Given the description of an element on the screen output the (x, y) to click on. 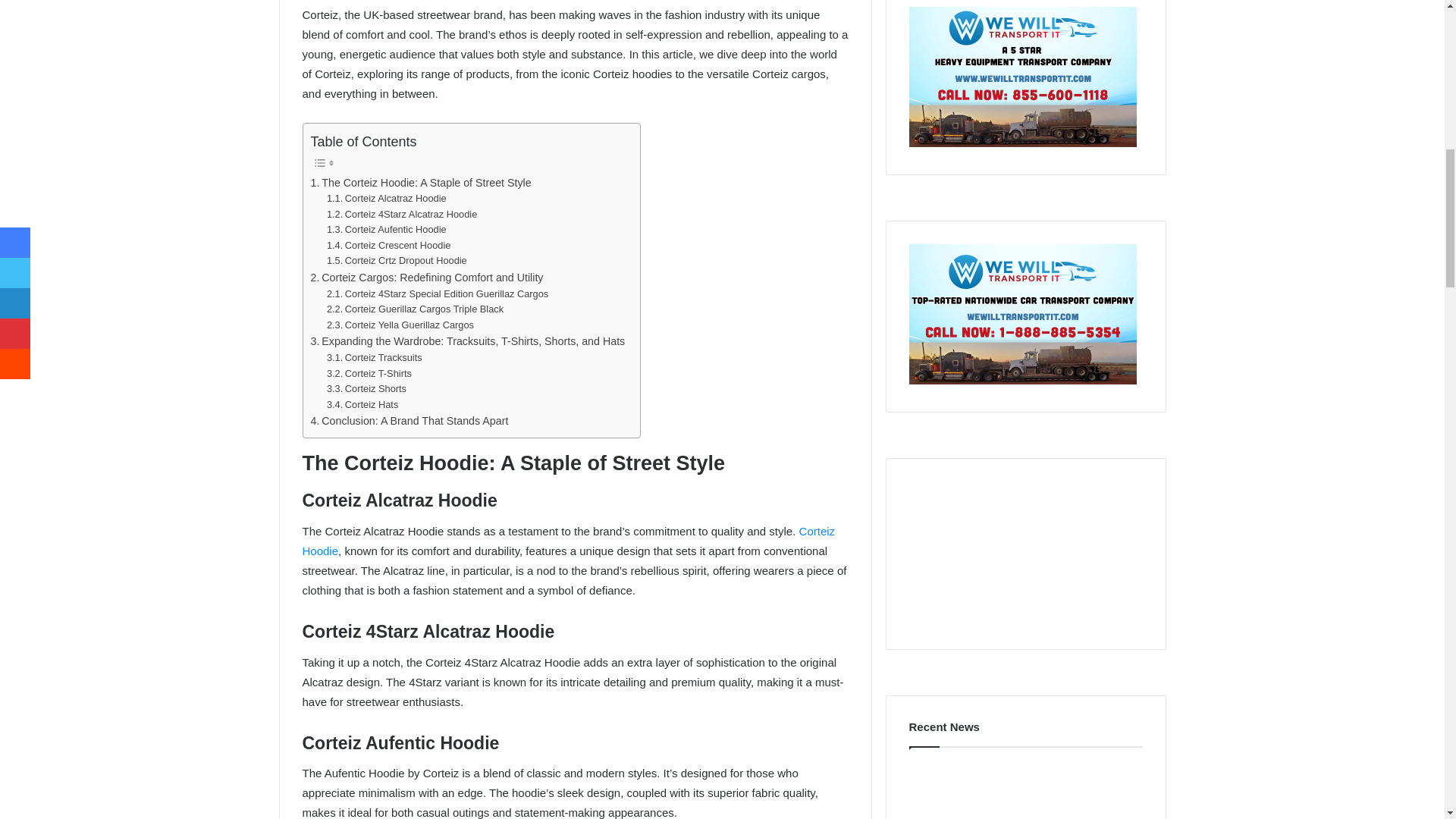
Corteiz Alcatraz Hoodie (386, 198)
The Corteiz Hoodie: A Staple of Street Style (421, 182)
Corteiz 4Starz Alcatraz Hoodie (401, 214)
